Given the description of an element on the screen output the (x, y) to click on. 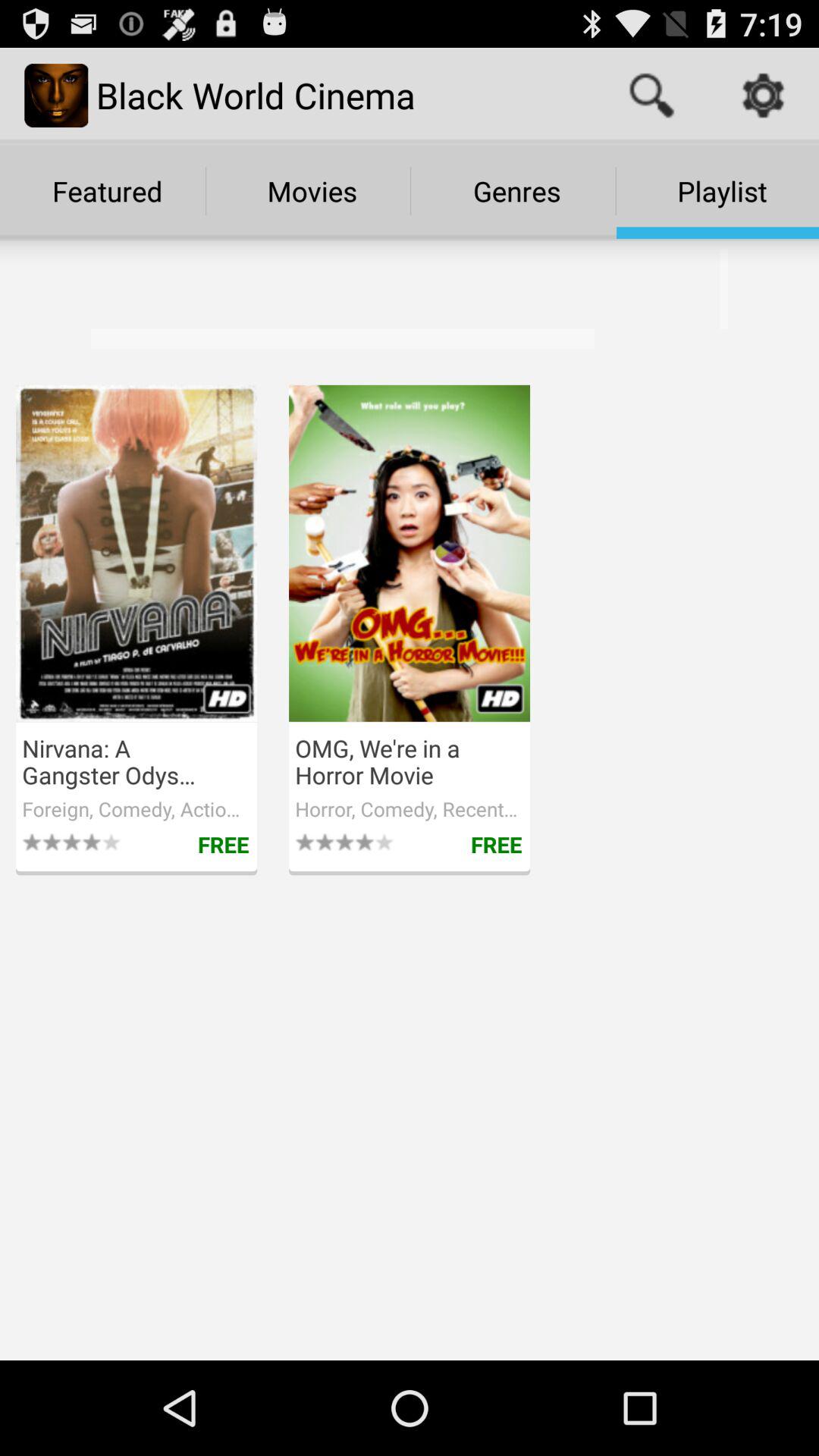
launch the icon next to the black world cinema (651, 95)
